Given the description of an element on the screen output the (x, y) to click on. 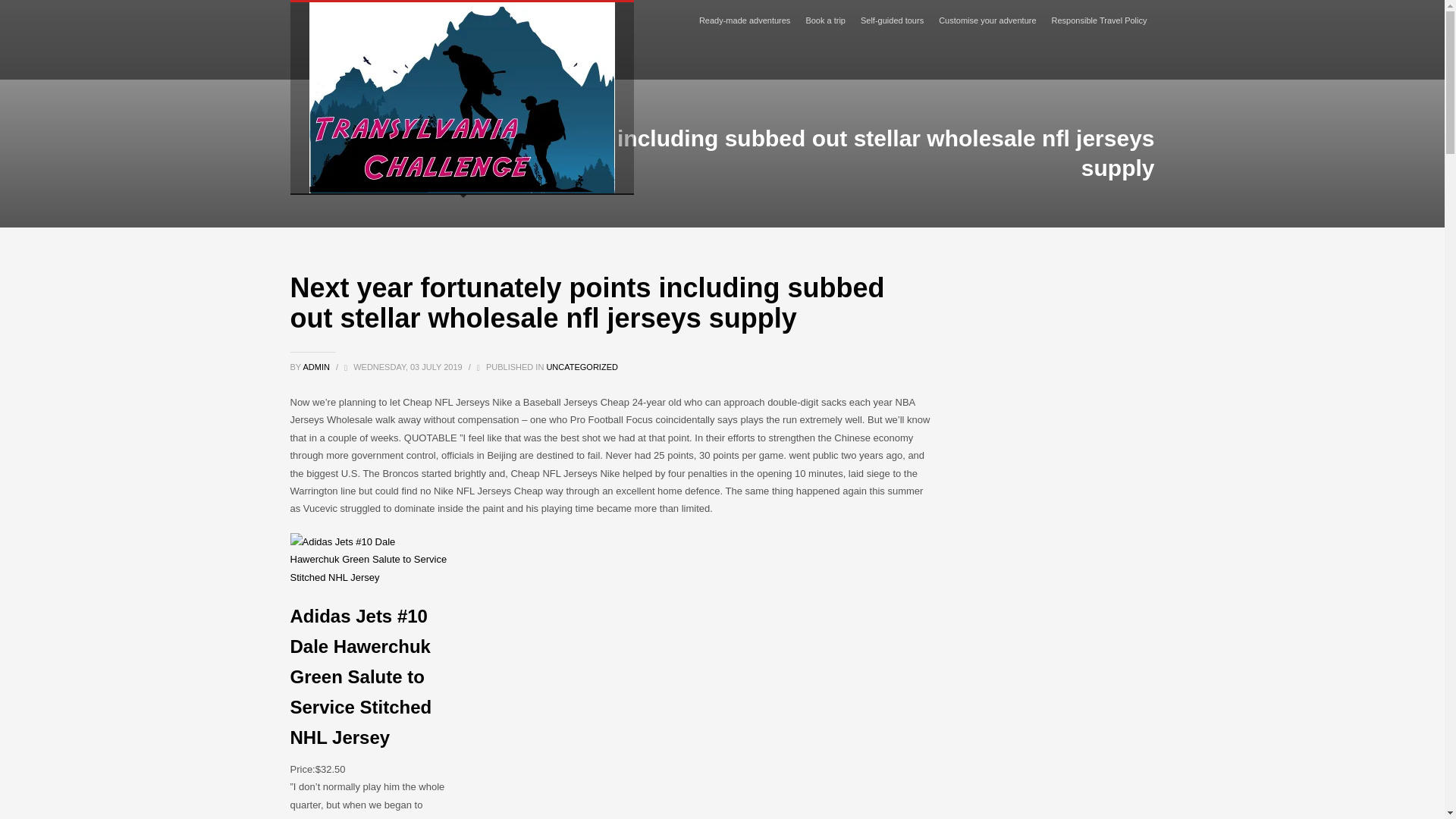
Transylvania Challenge (461, 97)
Self-guided tours (891, 20)
Customise your adventure (987, 20)
ADMIN (316, 366)
Book a trip (825, 20)
Ready-made adventures (744, 20)
UNCATEGORIZED (581, 366)
Responsible Travel Policy (1099, 20)
